Given the description of an element on the screen output the (x, y) to click on. 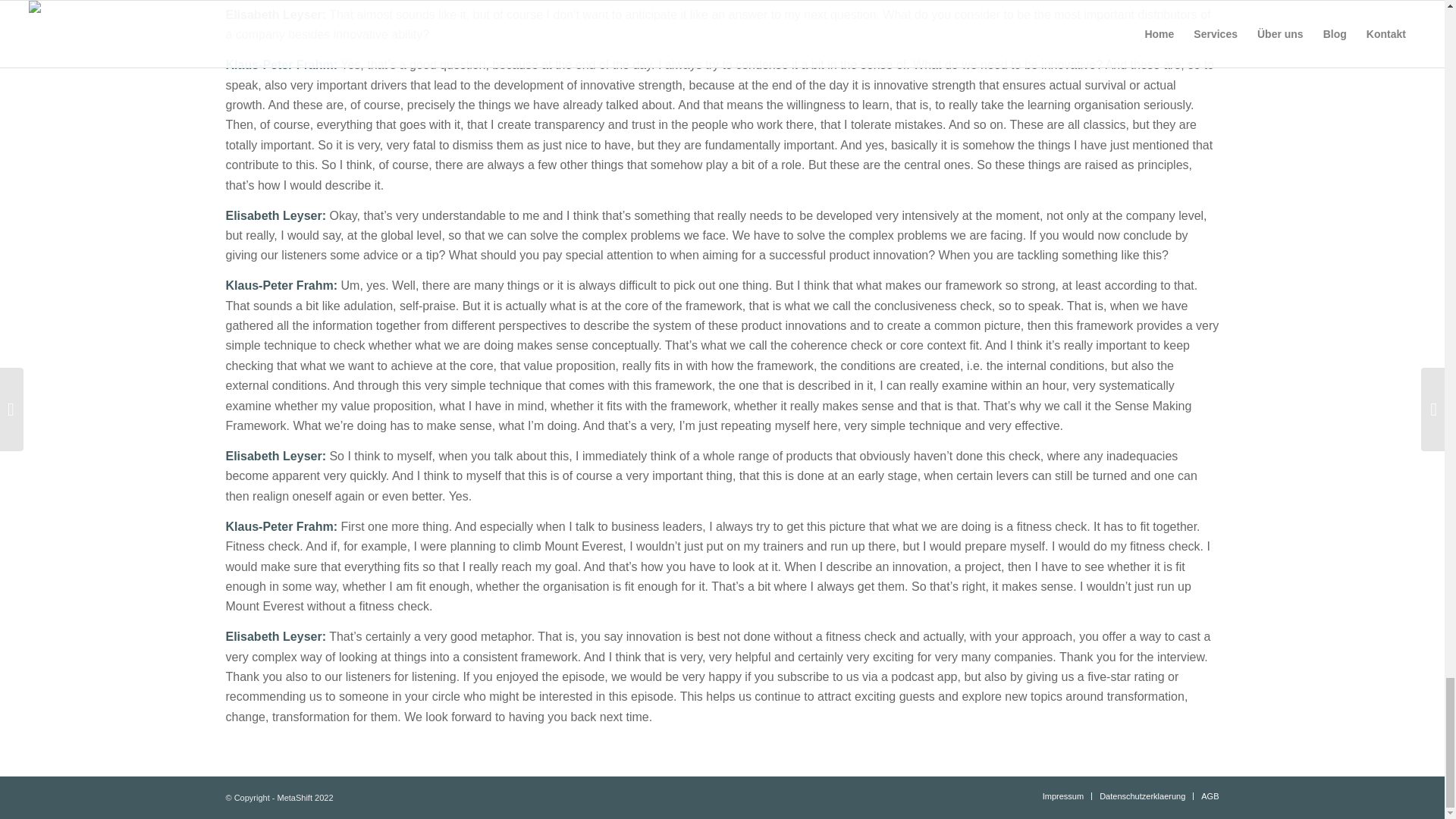
Impressum (1062, 795)
AGB (1209, 795)
Datenschutzerklaerung (1142, 795)
